Given the description of an element on the screen output the (x, y) to click on. 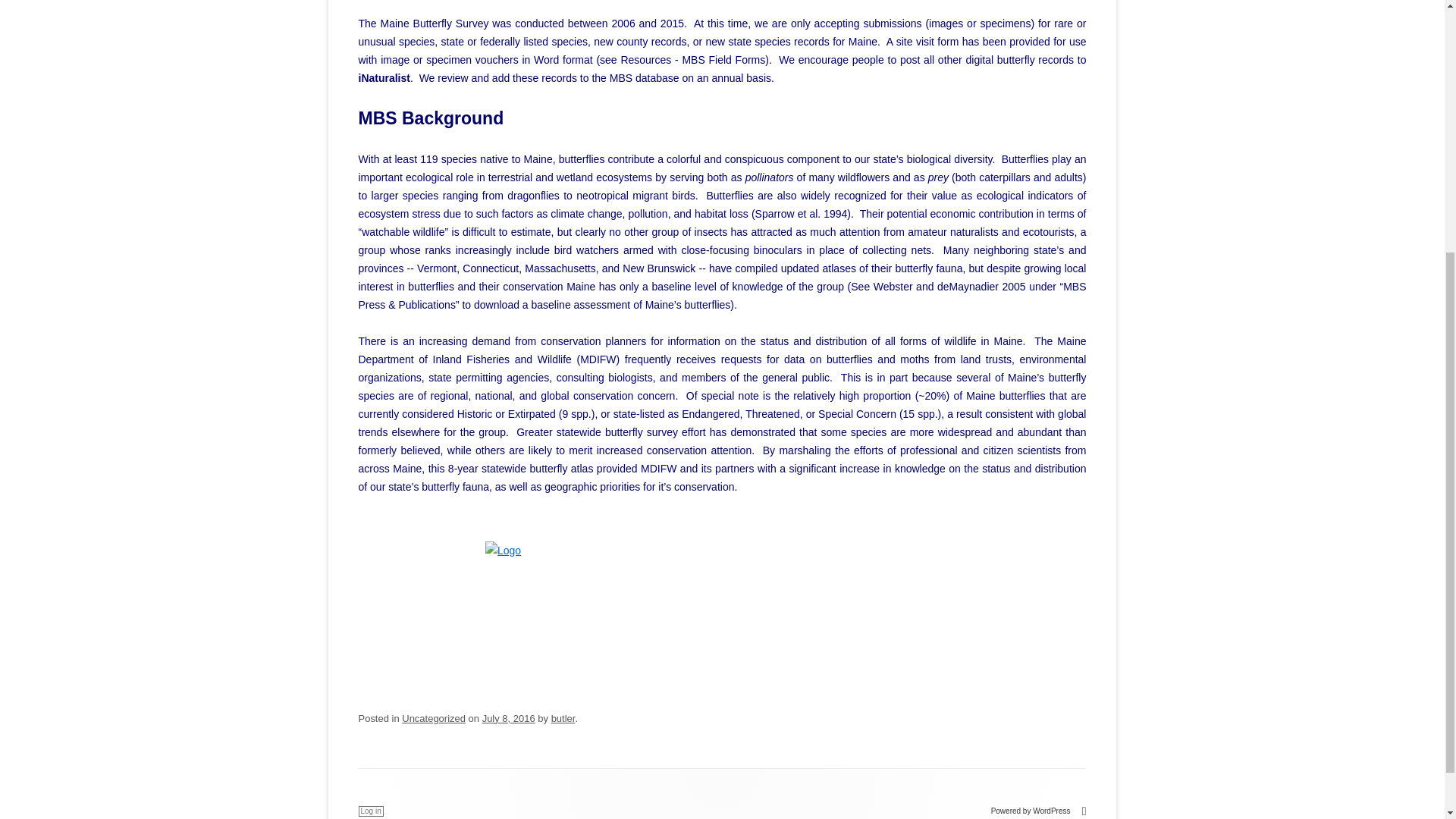
Powered by WordPress (1038, 810)
View all posts by butler (563, 717)
July 8, 2016 (508, 717)
Semantic Personal Publishing Platform (1038, 810)
1:53 pm (508, 717)
butler (563, 717)
Log in (370, 810)
Uncategorized (433, 717)
